Given the description of an element on the screen output the (x, y) to click on. 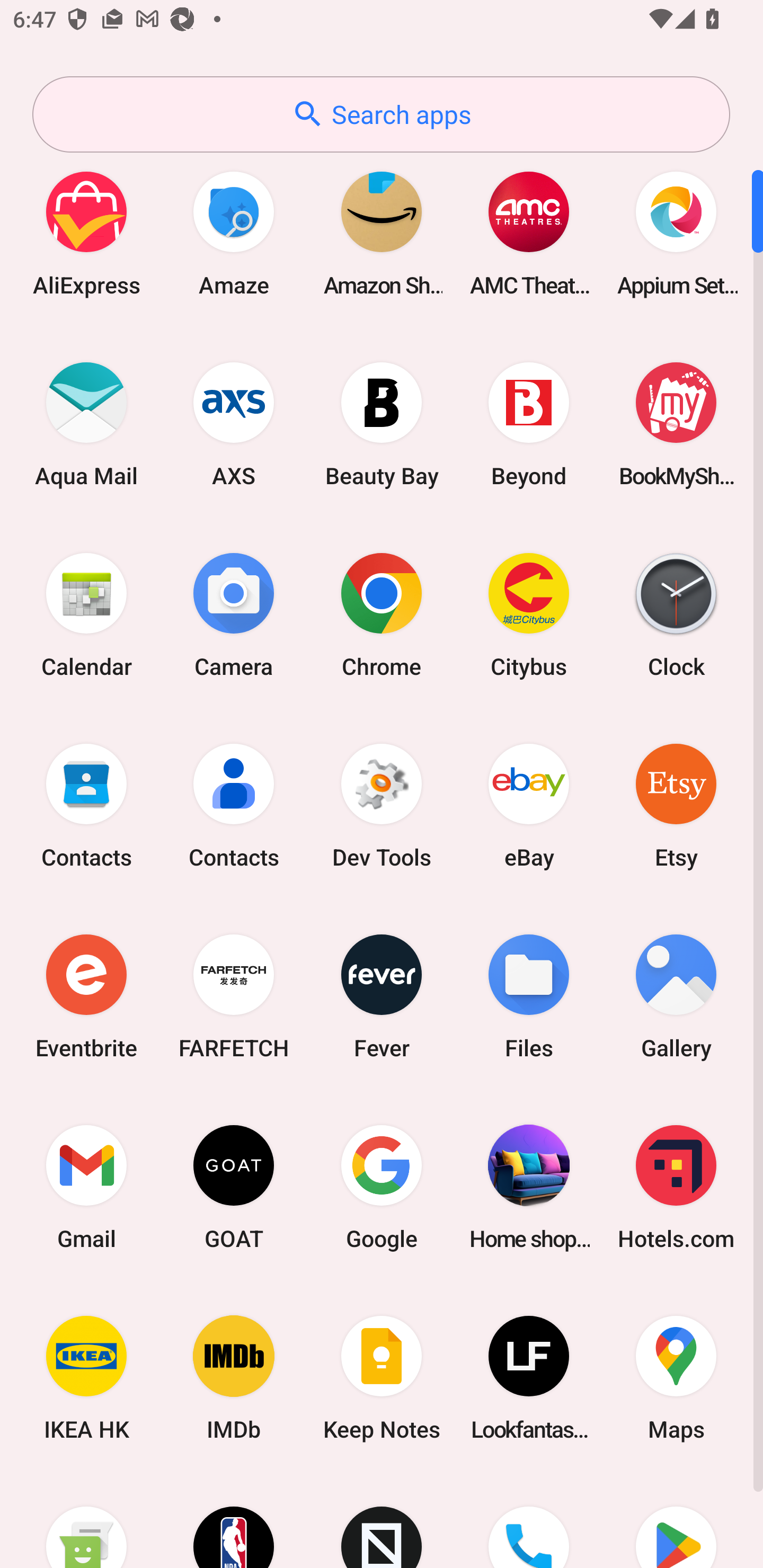
  Search apps (381, 114)
AliExpress (86, 233)
Amaze (233, 233)
Amazon Shopping (381, 233)
AMC Theatres (528, 233)
Appium Settings (676, 233)
Aqua Mail (86, 424)
AXS (233, 424)
Beauty Bay (381, 424)
Beyond (528, 424)
BookMyShow (676, 424)
Calendar (86, 614)
Camera (233, 614)
Chrome (381, 614)
Citybus (528, 614)
Clock (676, 614)
Contacts (86, 805)
Contacts (233, 805)
Dev Tools (381, 805)
eBay (528, 805)
Etsy (676, 805)
Eventbrite (86, 996)
FARFETCH (233, 996)
Fever (381, 996)
Files (528, 996)
Gallery (676, 996)
Gmail (86, 1186)
GOAT (233, 1186)
Google (381, 1186)
Home shopping (528, 1186)
Hotels.com (676, 1186)
IKEA HK (86, 1377)
IMDb (233, 1377)
Keep Notes (381, 1377)
Lookfantastic (528, 1377)
Maps (676, 1377)
Messaging (86, 1520)
NBA (233, 1520)
Novelship (381, 1520)
Phone (528, 1520)
Play Store (676, 1520)
